Given the description of an element on the screen output the (x, y) to click on. 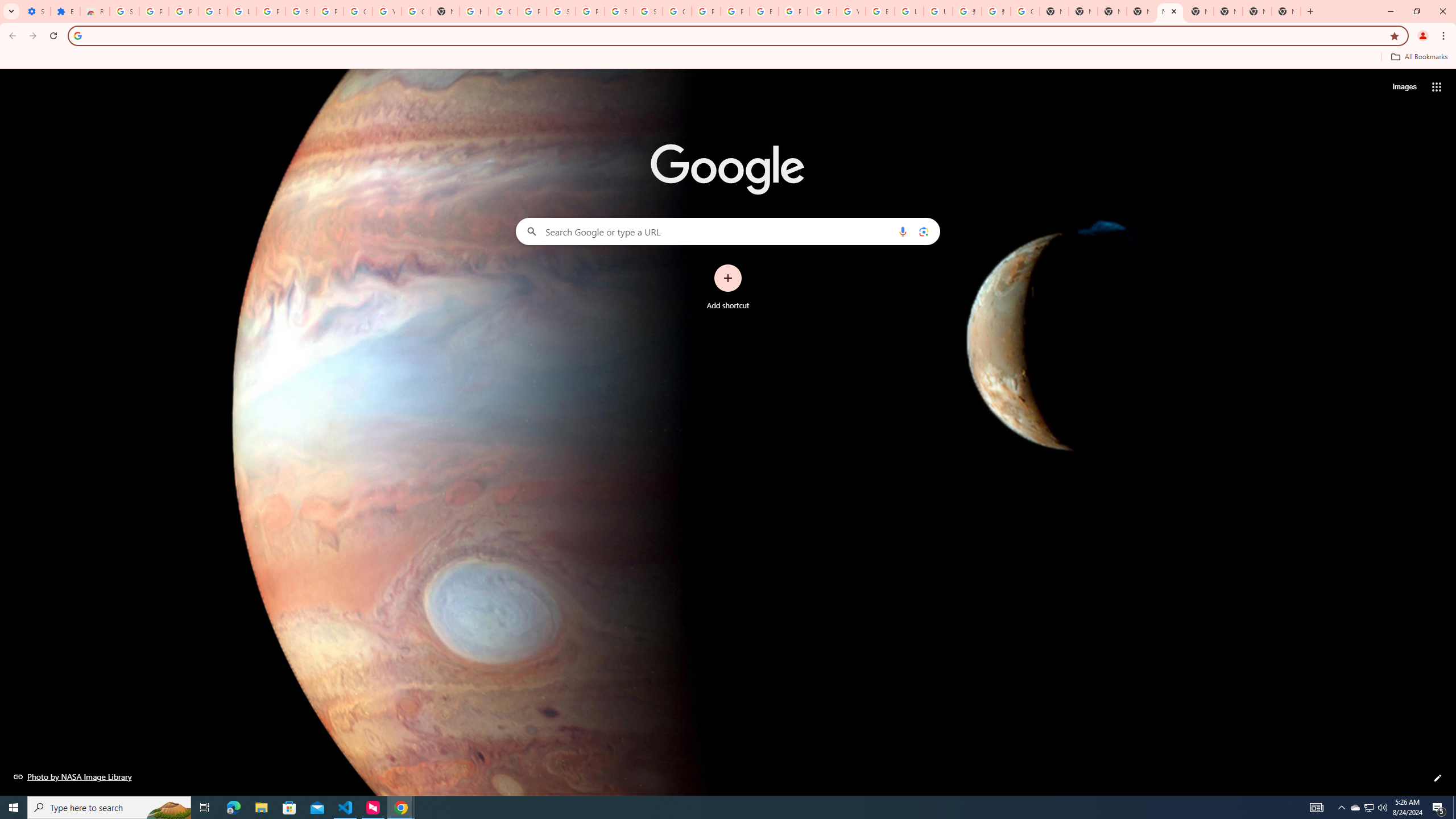
https://scholar.google.com/ (473, 11)
YouTube (850, 11)
Privacy Help Center - Policies Help (705, 11)
